Given the description of an element on the screen output the (x, y) to click on. 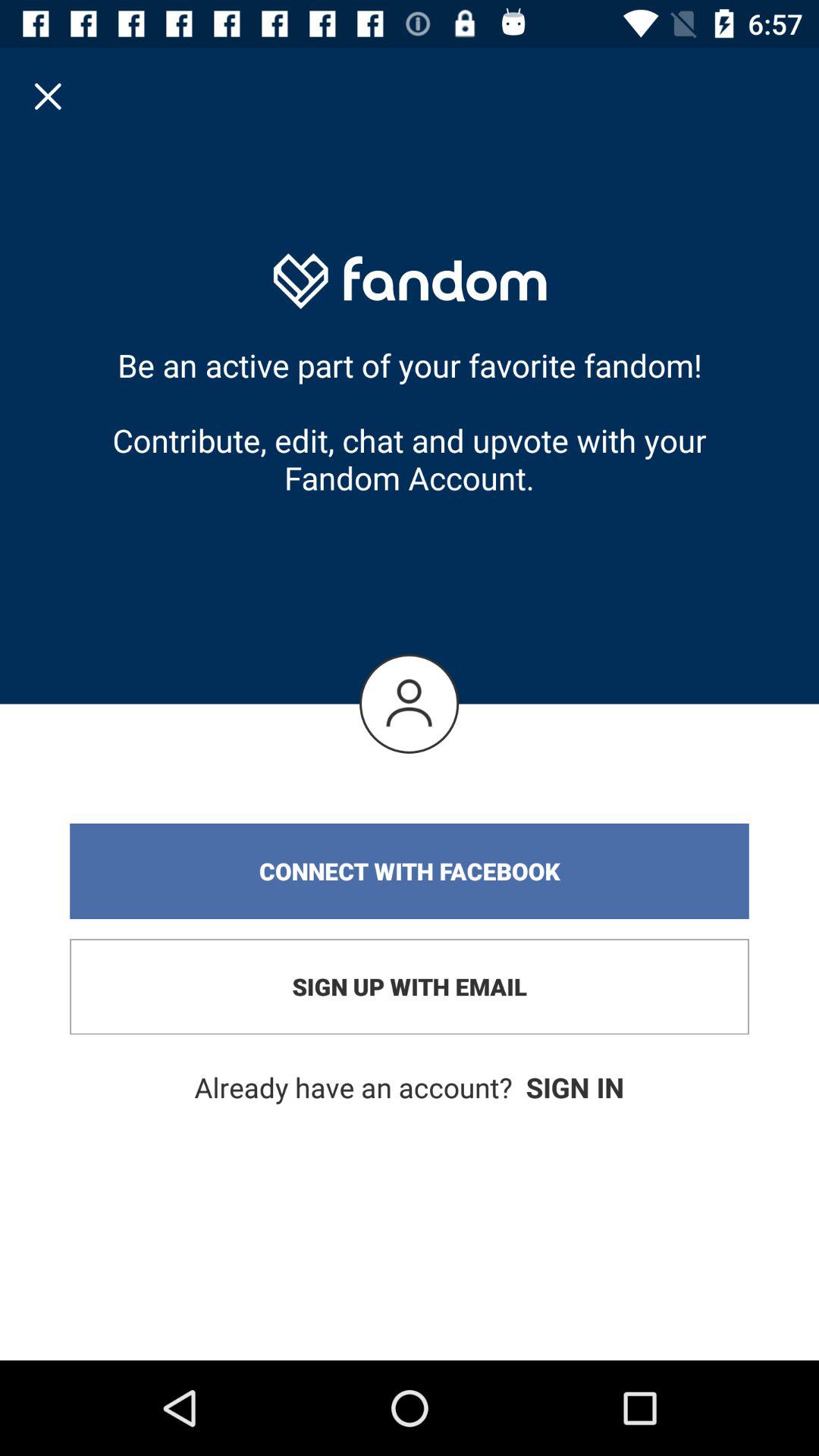
click icon above the already have an item (409, 986)
